Given the description of an element on the screen output the (x, y) to click on. 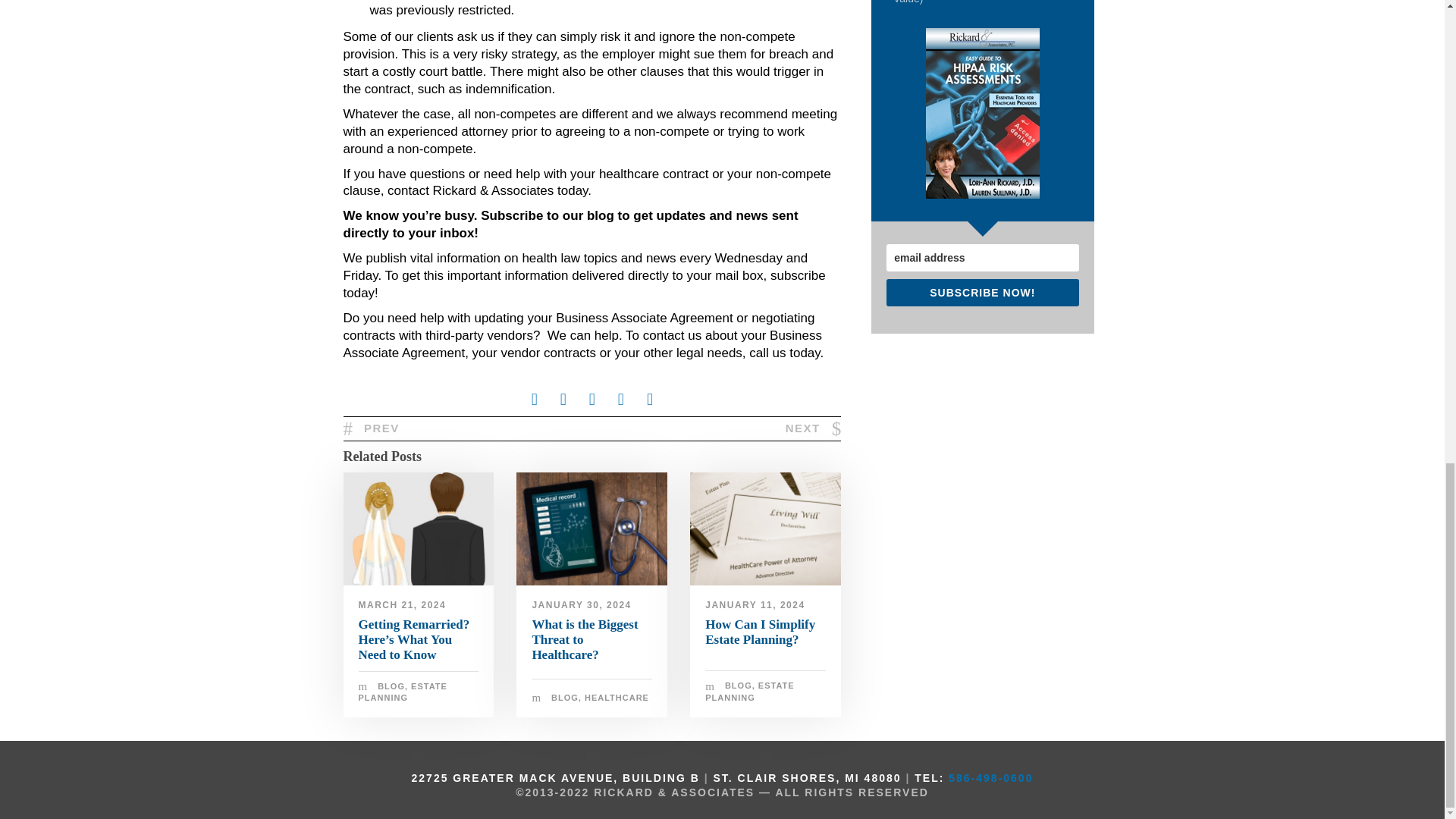
Medical record (591, 528)
bride-groom-pic (417, 528)
BLOG (390, 686)
Legal and estate planning documents (765, 528)
NEXT (813, 427)
ESTATE PLANNING (402, 691)
MARCH 21, 2024 (401, 604)
PREV (370, 427)
